Given the description of an element on the screen output the (x, y) to click on. 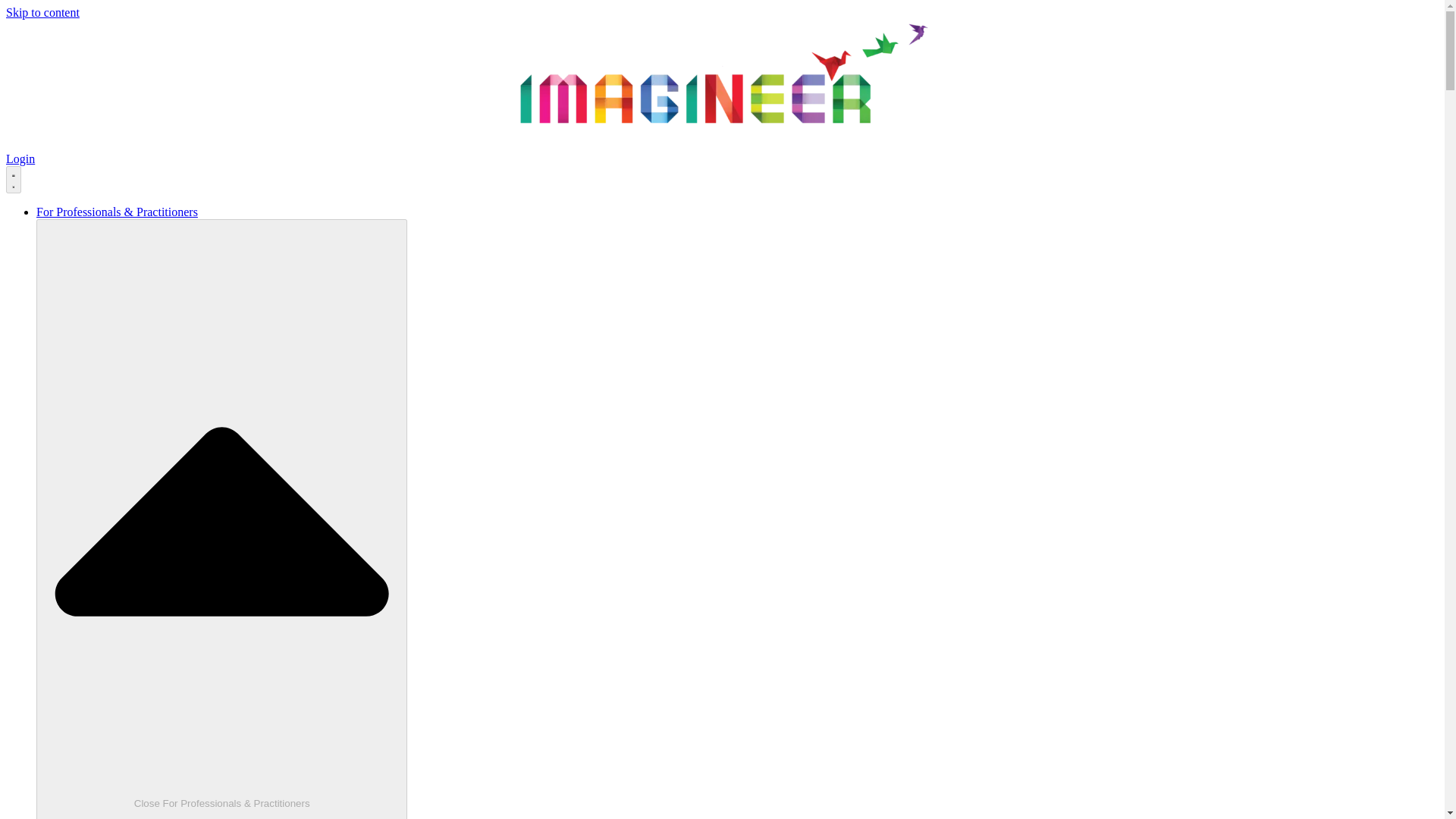
Login (19, 158)
Skip to content (42, 11)
